Given the description of an element on the screen output the (x, y) to click on. 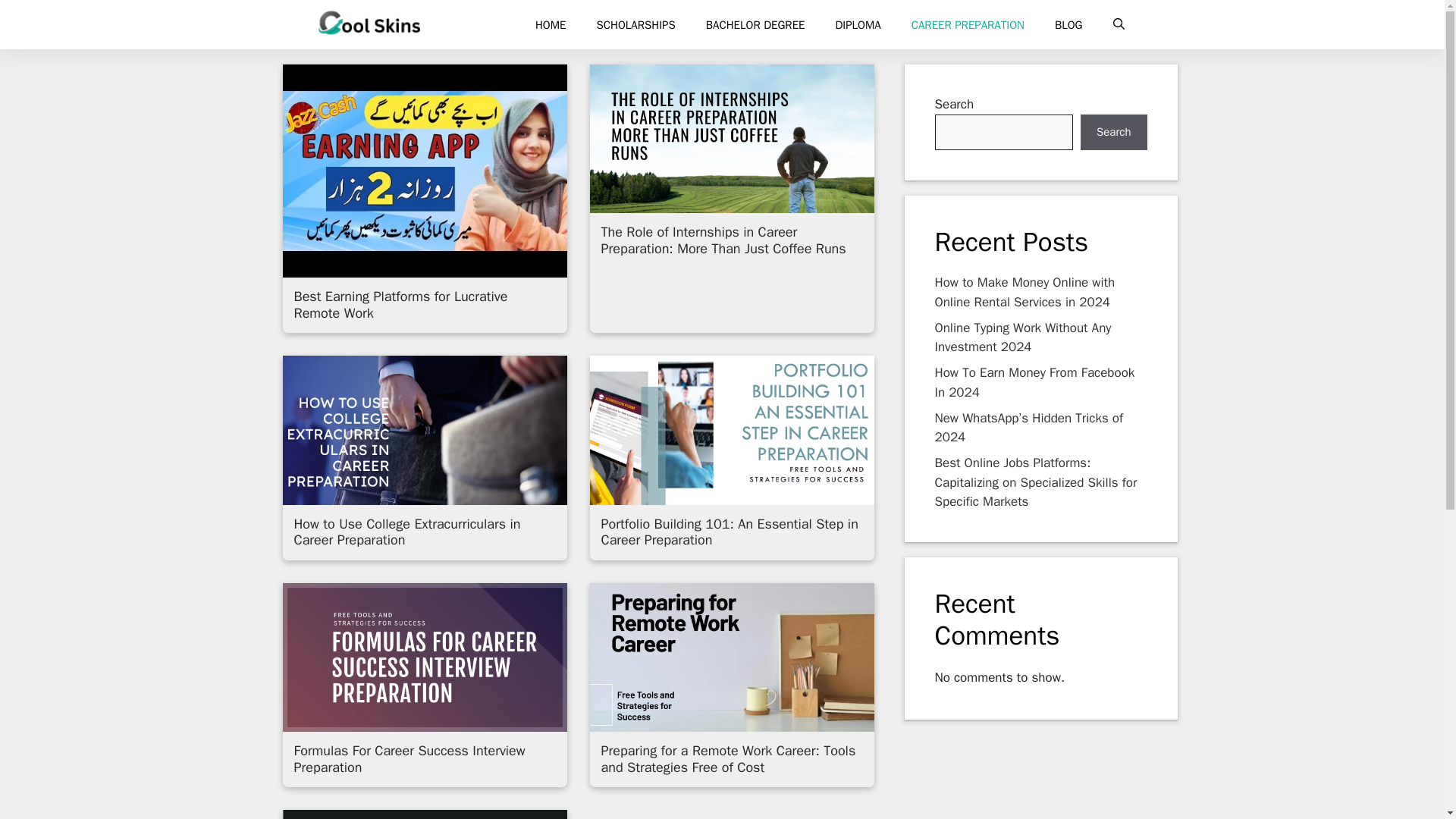
J2earn (368, 24)
DIPLOMA (857, 23)
BACHELOR DEGREE (755, 23)
BLOG (1068, 23)
How To Earn Money From Facebook In 2024 (1034, 382)
Formulas For Career Success Interview Preparation (409, 758)
How to Use College Extracurriculars in Career Preparation (407, 531)
Best Earning Platforms for Lucrative Remote Work (401, 304)
Online Typing Work Without Any Investment 2024 (1022, 337)
How to Make Money Online with Online Rental Services in 2024 (1024, 292)
SCHOLARSHIPS (635, 23)
